Given the description of an element on the screen output the (x, y) to click on. 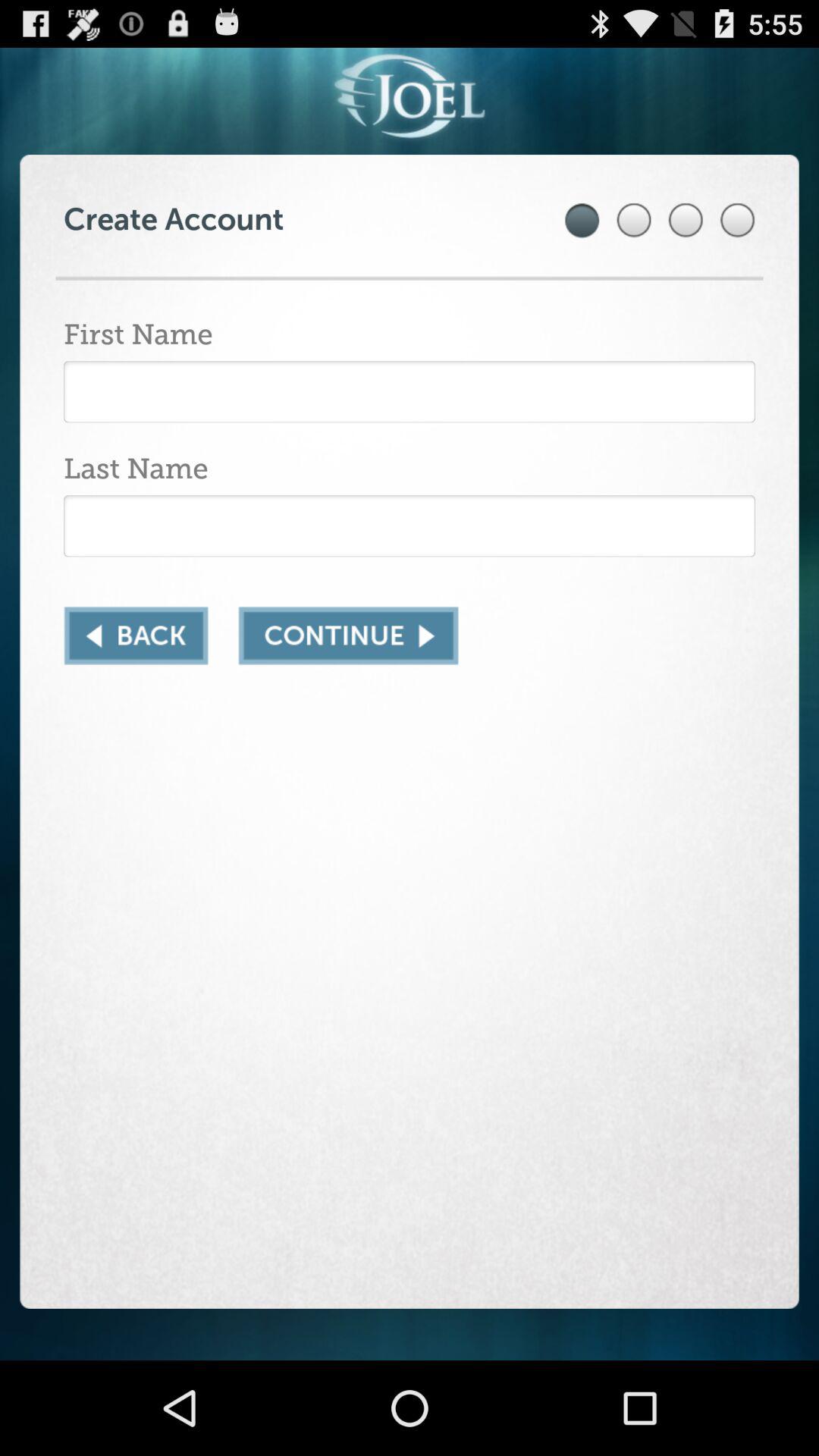
enter text (409, 391)
